Given the description of an element on the screen output the (x, y) to click on. 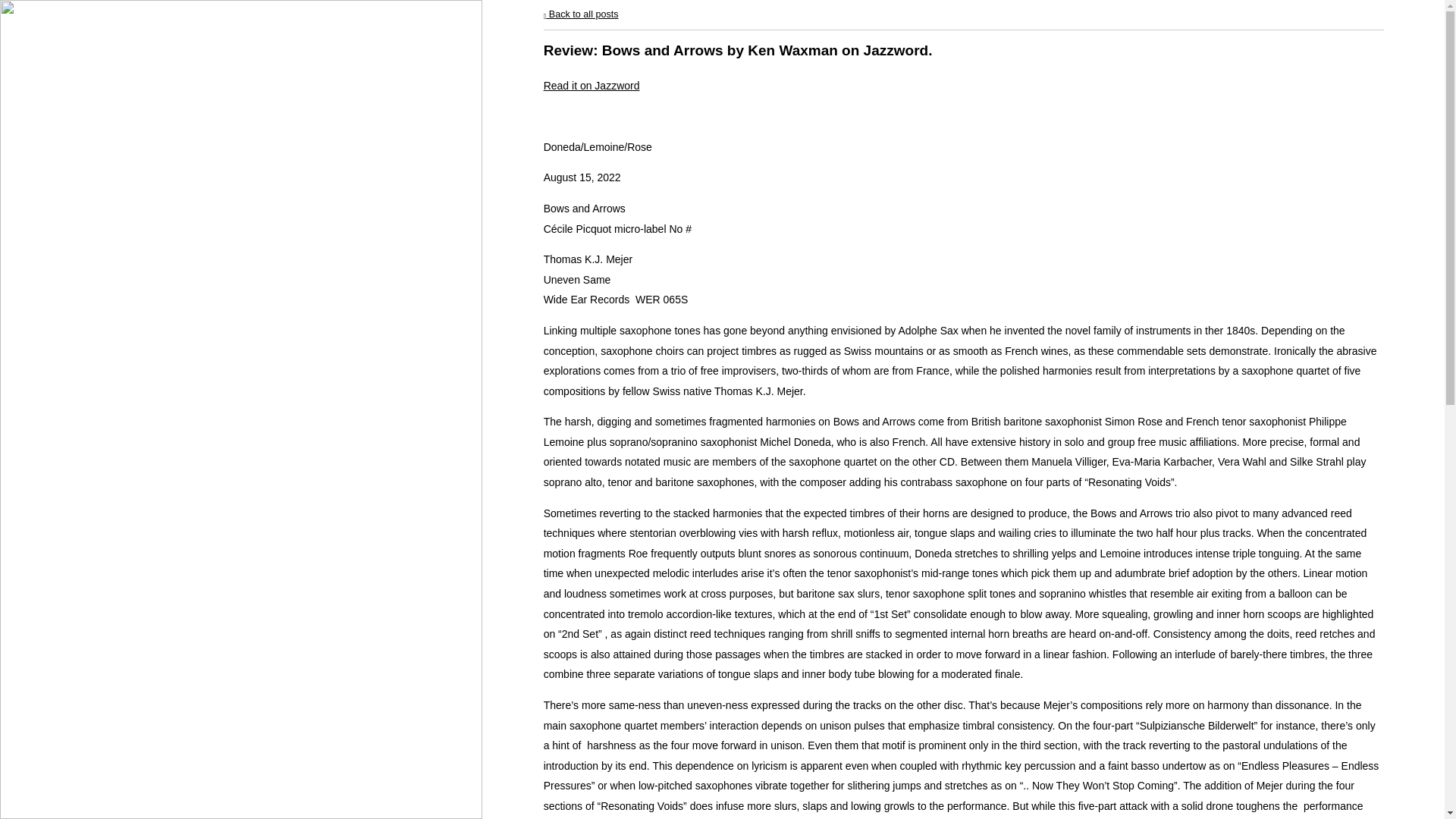
Philippe Lemoine (144, 55)
Deserteafication (98, 588)
Micro Label (71, 524)
Hyperfantastic Children Songs (139, 710)
Bows and Arrows (98, 621)
Read it on Jazzword (591, 85)
Grand8 (55, 681)
Shop (47, 739)
Back to all posts (580, 14)
